Given the description of an element on the screen output the (x, y) to click on. 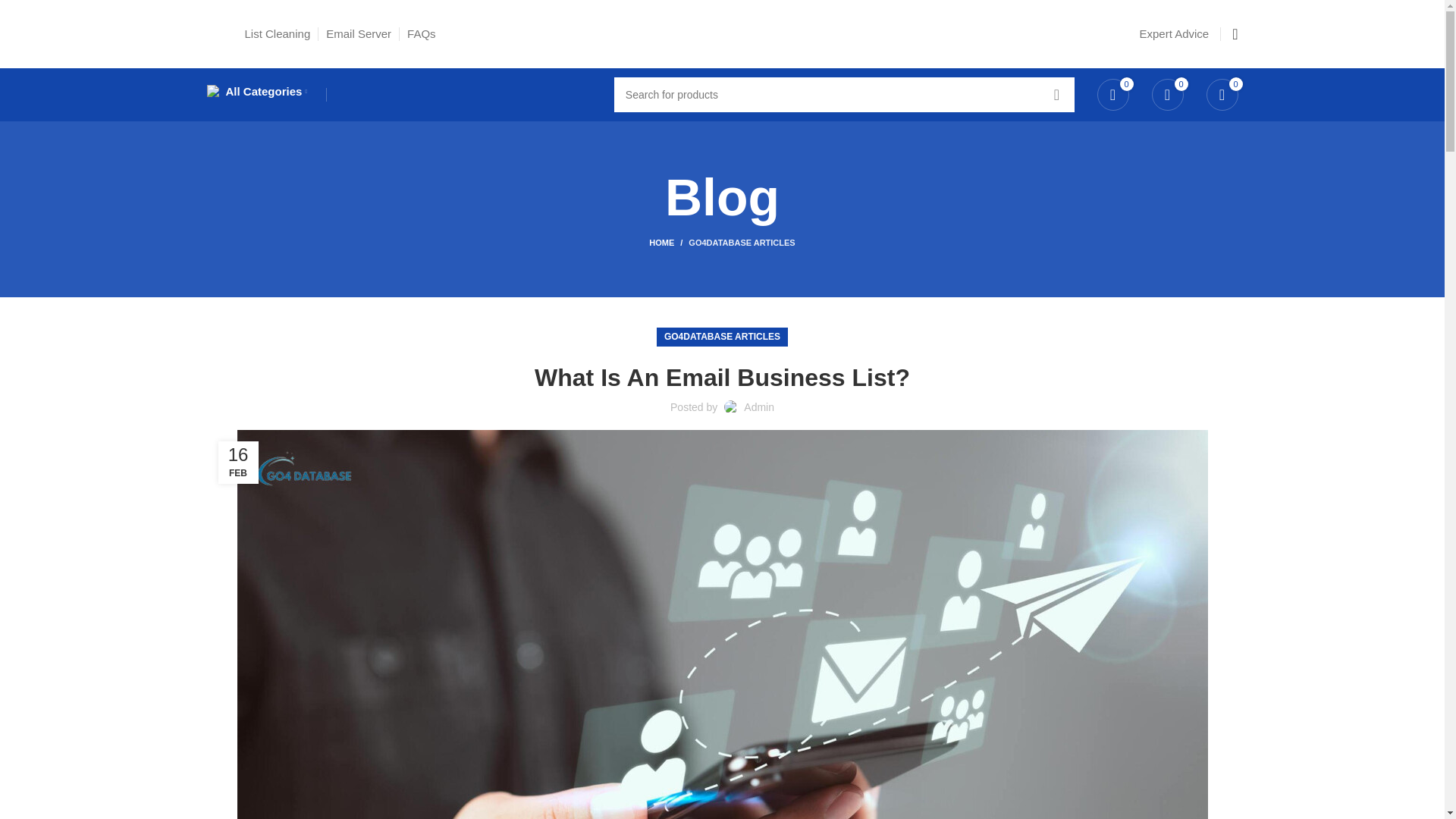
All Categories 1 (212, 91)
Compare products (1166, 94)
My Wishlist (1112, 94)
All Categories (256, 91)
Expert Advice (1173, 33)
Search for products (844, 94)
Email Server (358, 33)
FAQs (421, 33)
Shopping cart (1221, 94)
